Given the description of an element on the screen output the (x, y) to click on. 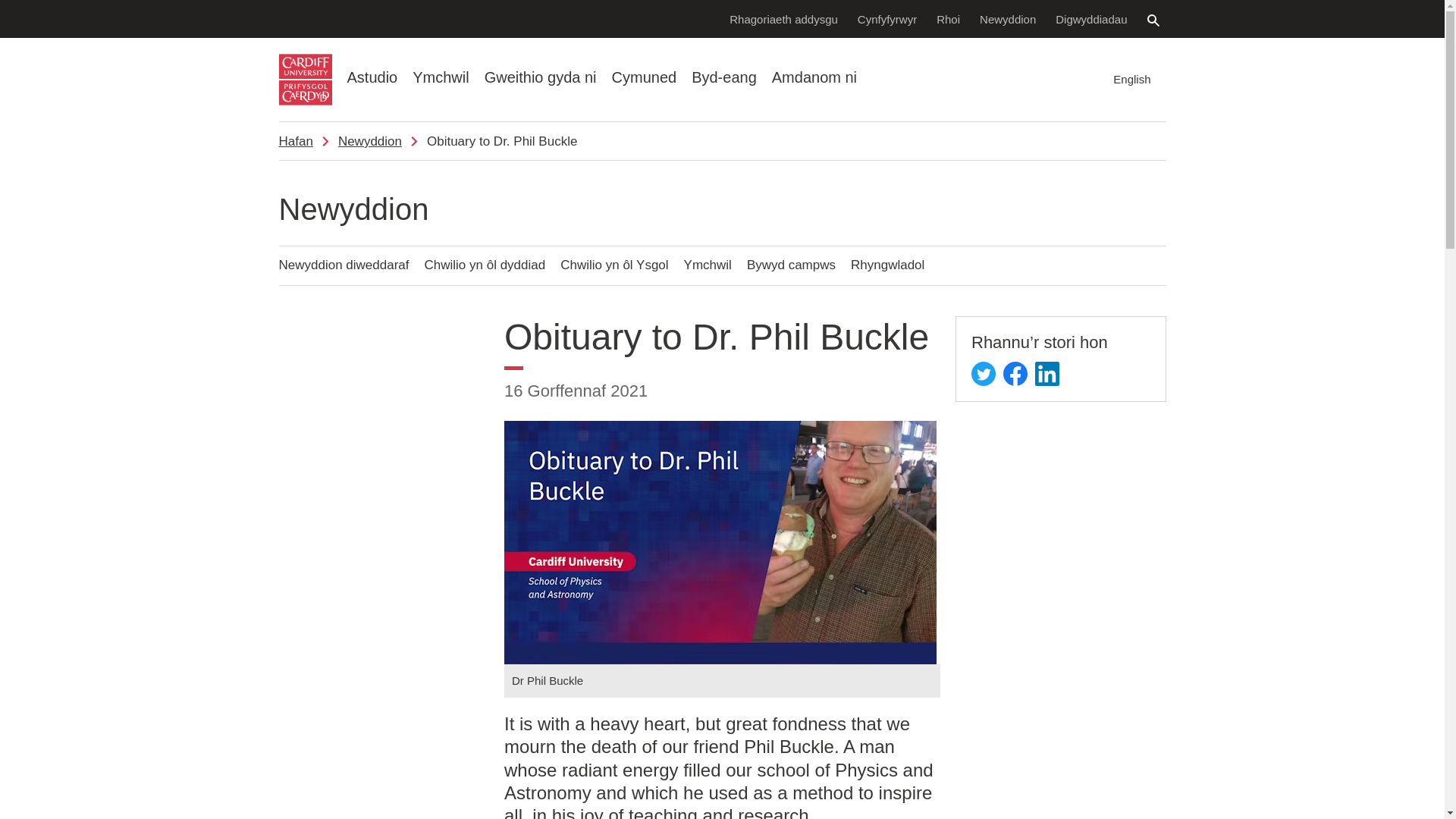
Digwyddiadau (1090, 19)
LinkedIn (1047, 373)
Astudio (372, 77)
Rhagoriaeth addysgu (783, 19)
Cardiff University logo (305, 79)
Rhoi (948, 19)
Newyddion (1007, 19)
Cardiff University logo (305, 79)
Cynfyfyrwyr (887, 19)
Search (1152, 20)
